Given the description of an element on the screen output the (x, y) to click on. 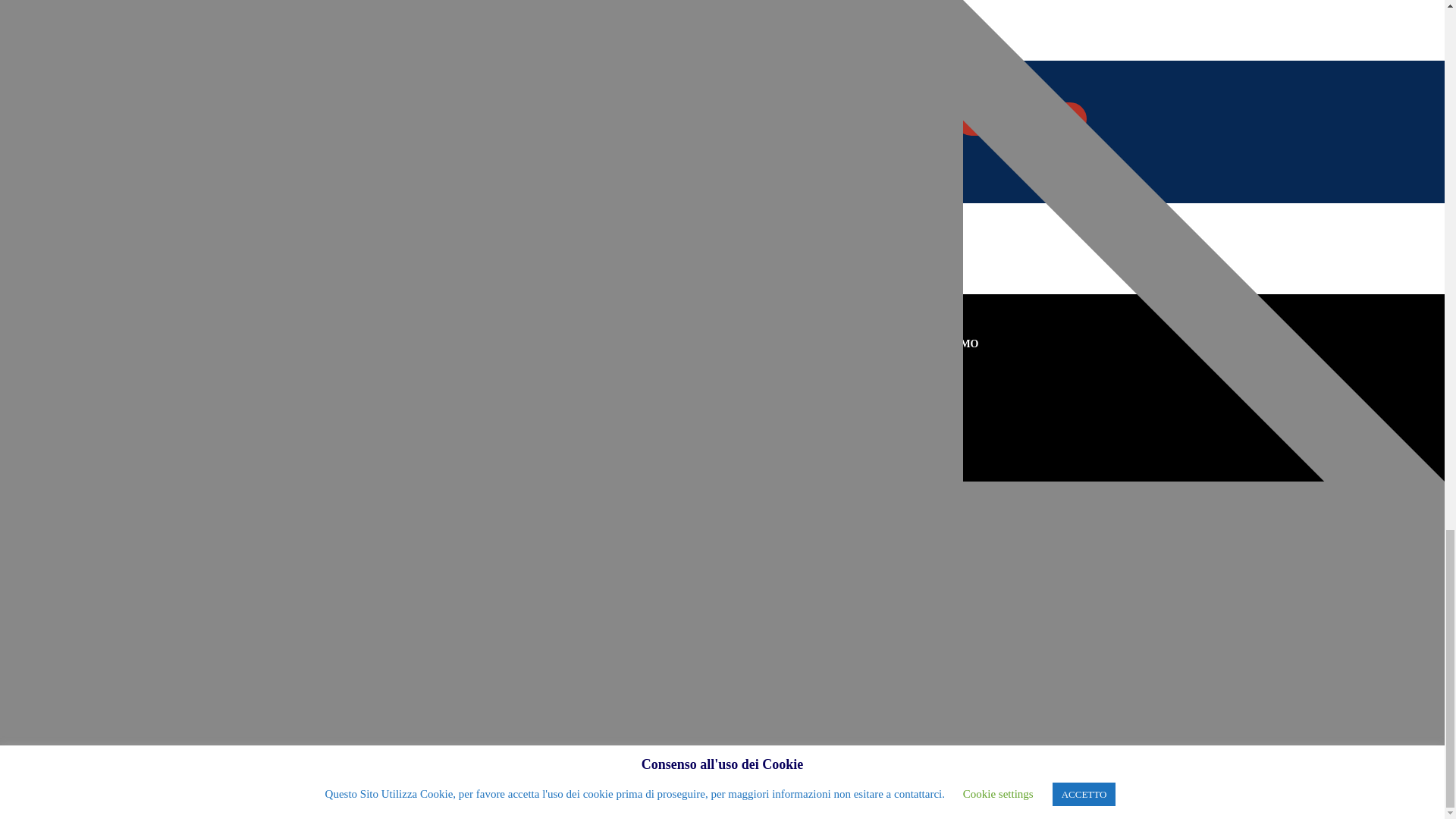
Sign up (762, 697)
1 (727, 625)
